Given the description of an element on the screen output the (x, y) to click on. 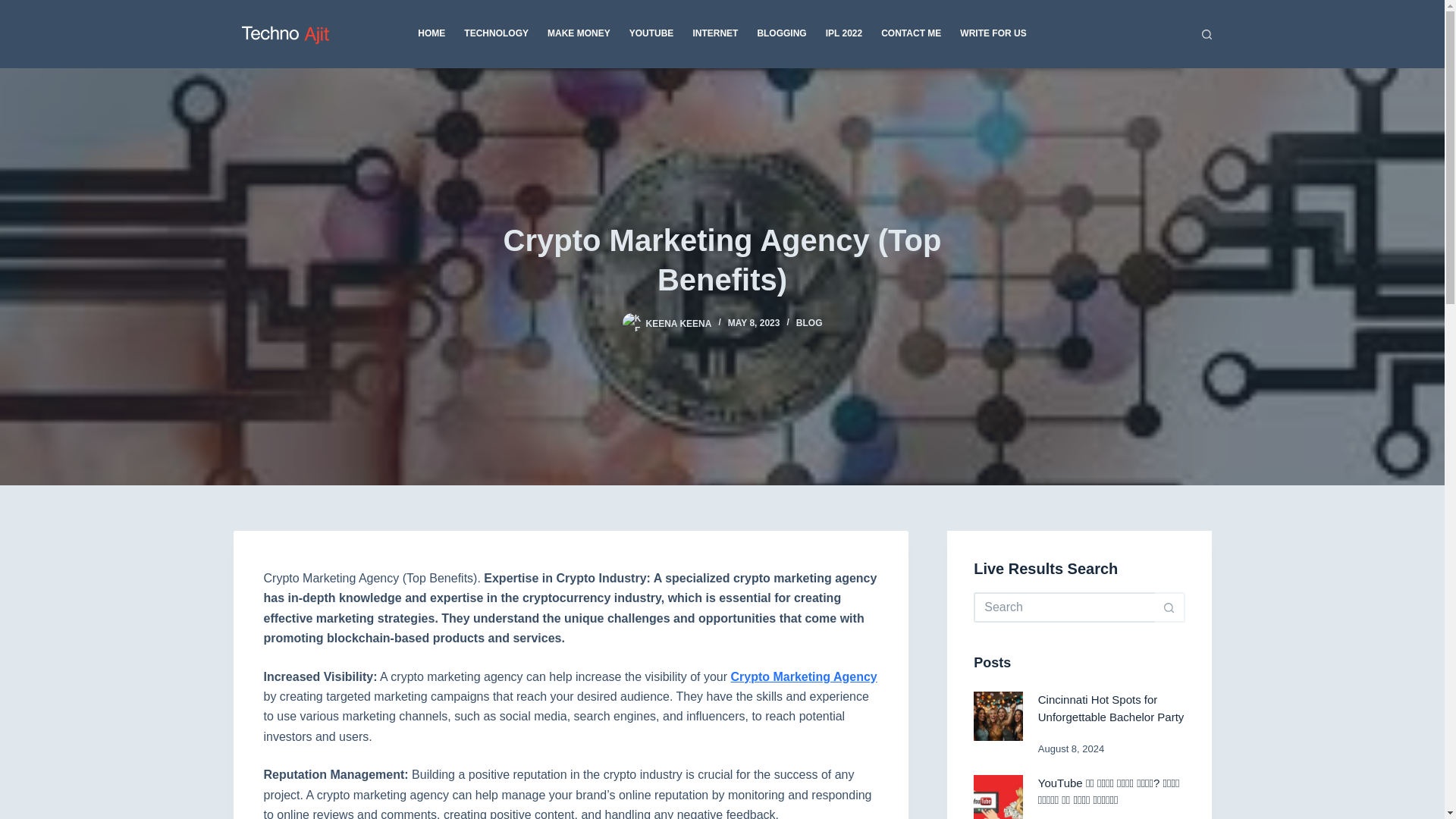
BLOG (809, 322)
MAKE MONEY (579, 33)
KEENA KEENA (678, 322)
WRITE FOR US (988, 33)
YOUTUBE (651, 33)
Posts by Keena Keena (678, 322)
Search for... (1064, 607)
CONTACT ME (911, 33)
Crypto Marketing Agency (803, 676)
INTERNET (715, 33)
